Given the description of an element on the screen output the (x, y) to click on. 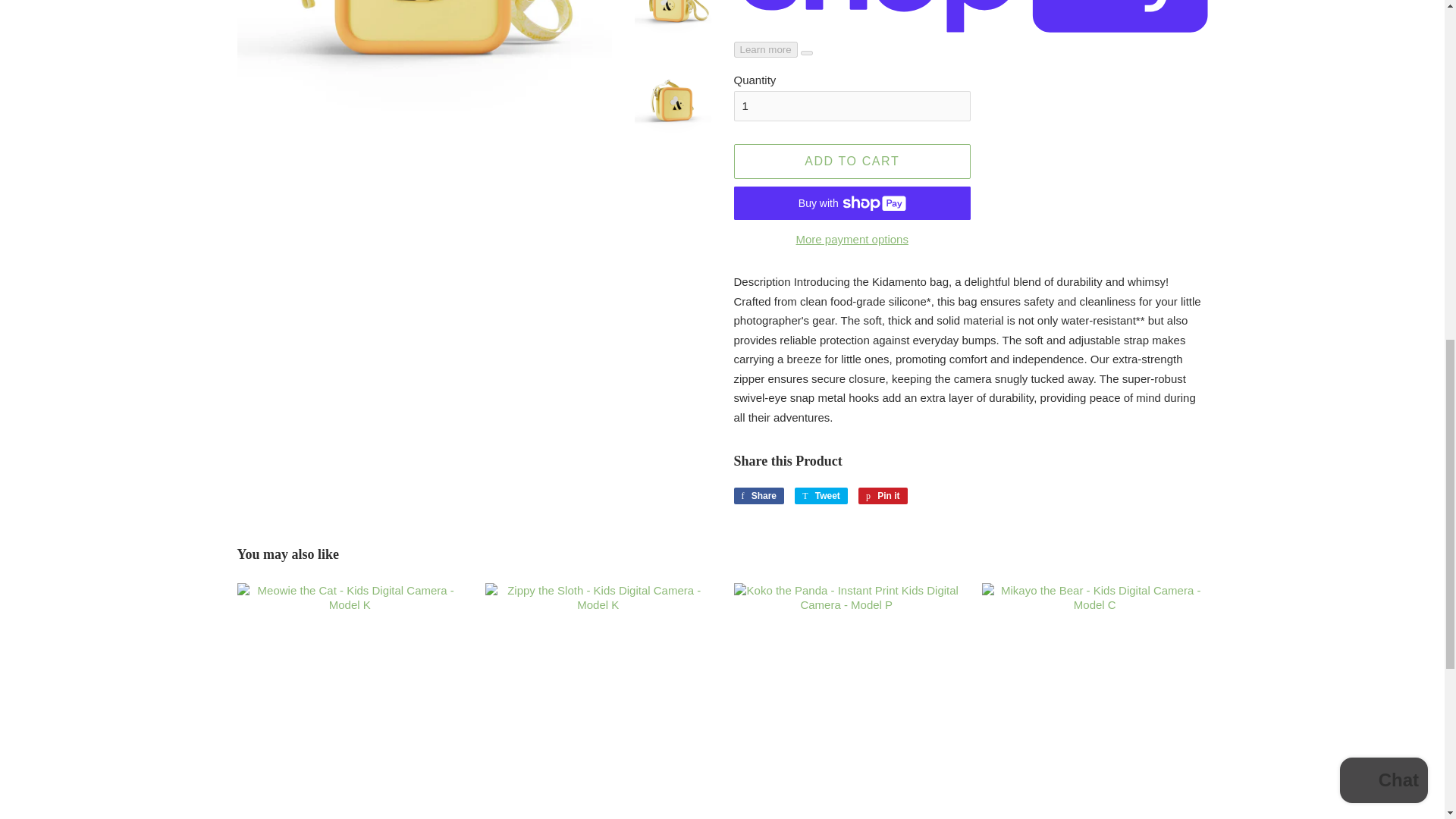
Share on Facebook (820, 495)
Tweet on Twitter (758, 495)
ADD TO CART (820, 495)
More payment options (852, 161)
1 (852, 238)
Pin on Pinterest (852, 105)
